Given the description of an element on the screen output the (x, y) to click on. 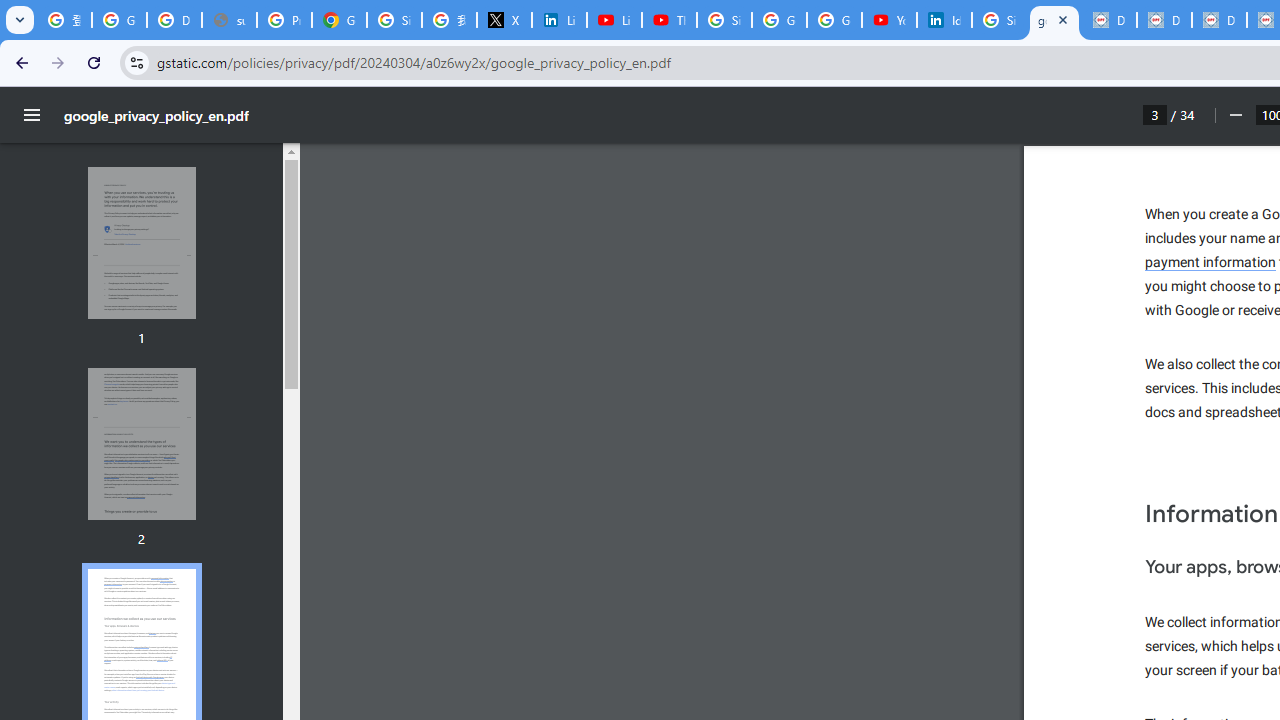
payment information (1211, 263)
Data Privacy Framework (1218, 20)
Sign in - Google Accounts (724, 20)
LinkedIn - YouTube (614, 20)
Sign in - Google Accounts (998, 20)
